Given the description of an element on the screen output the (x, y) to click on. 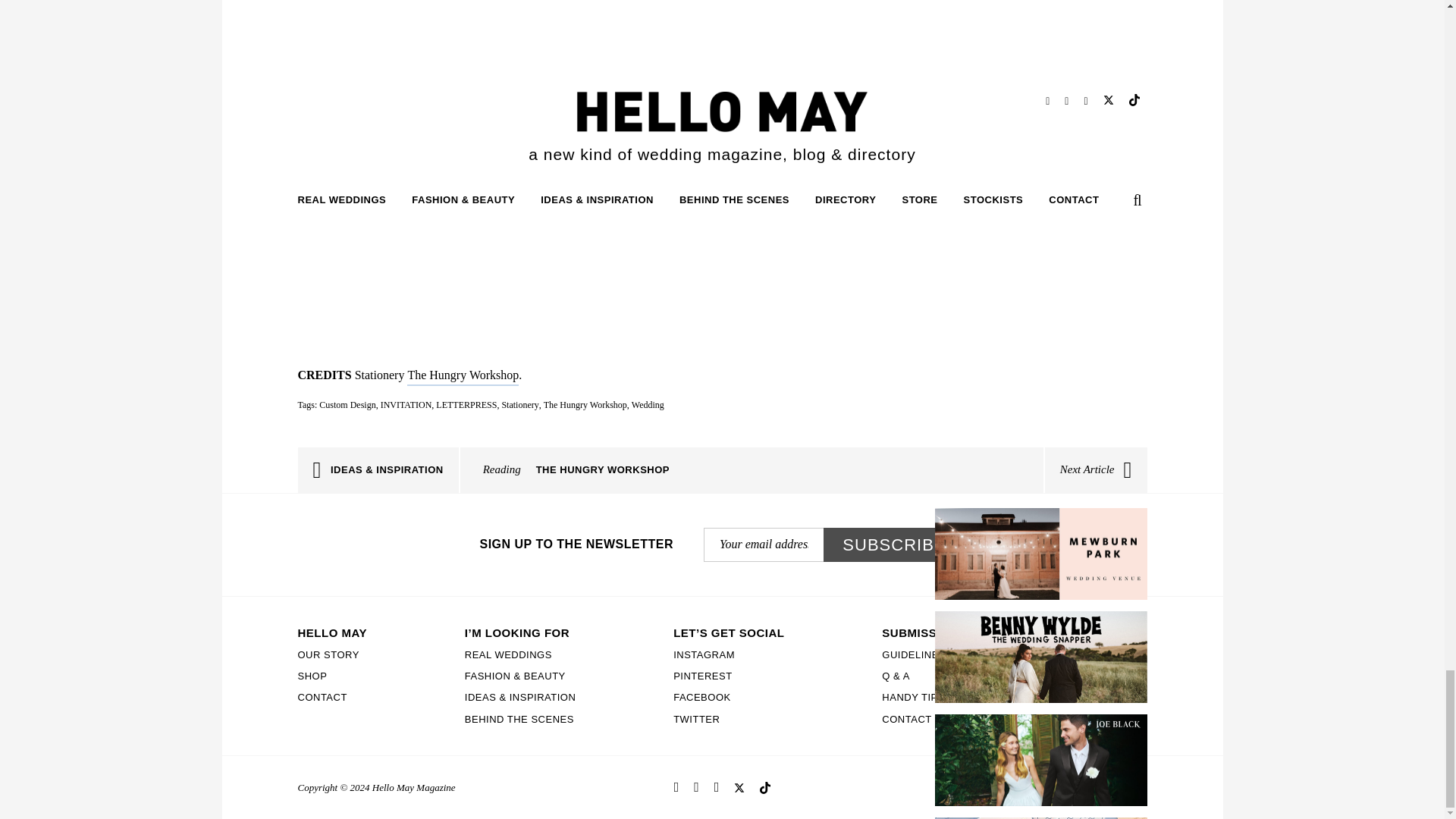
Wedding (647, 405)
INVITATION (406, 405)
The Hungry Workshop (585, 405)
The Hungry Workshop (462, 374)
Stationery (519, 405)
LETTERPRESS (465, 405)
Custom Design (346, 405)
